Given the description of an element on the screen output the (x, y) to click on. 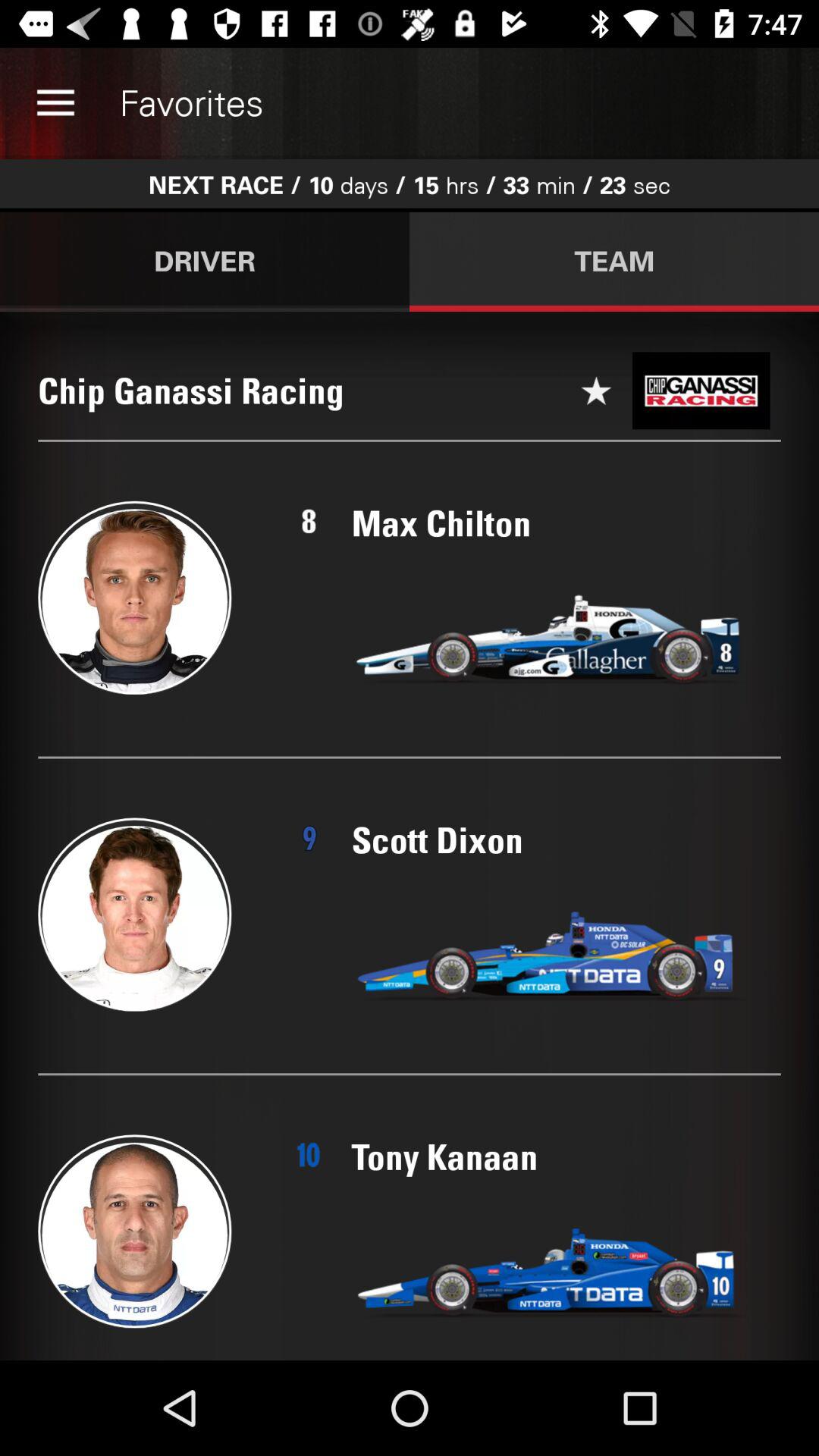
tap item to the left of the favorites icon (55, 103)
